Given the description of an element on the screen output the (x, y) to click on. 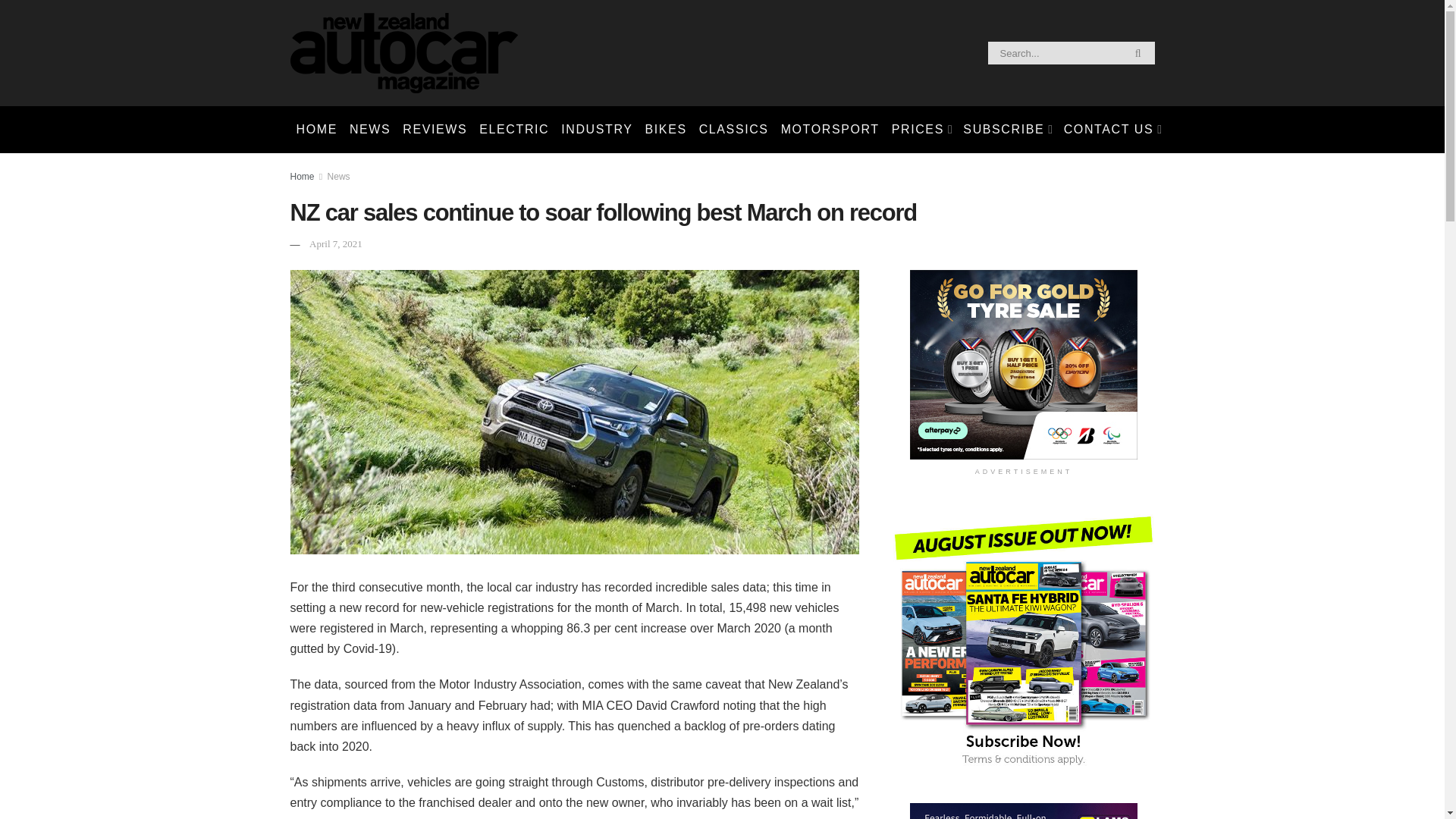
CLASSICS (733, 128)
ELECTRIC (513, 128)
PRICES (921, 128)
INDUSTRY (596, 128)
HOME (315, 128)
REVIEWS (434, 128)
BIKES (666, 128)
NEWS (369, 128)
MOTORSPORT (829, 128)
